Given the description of an element on the screen output the (x, y) to click on. 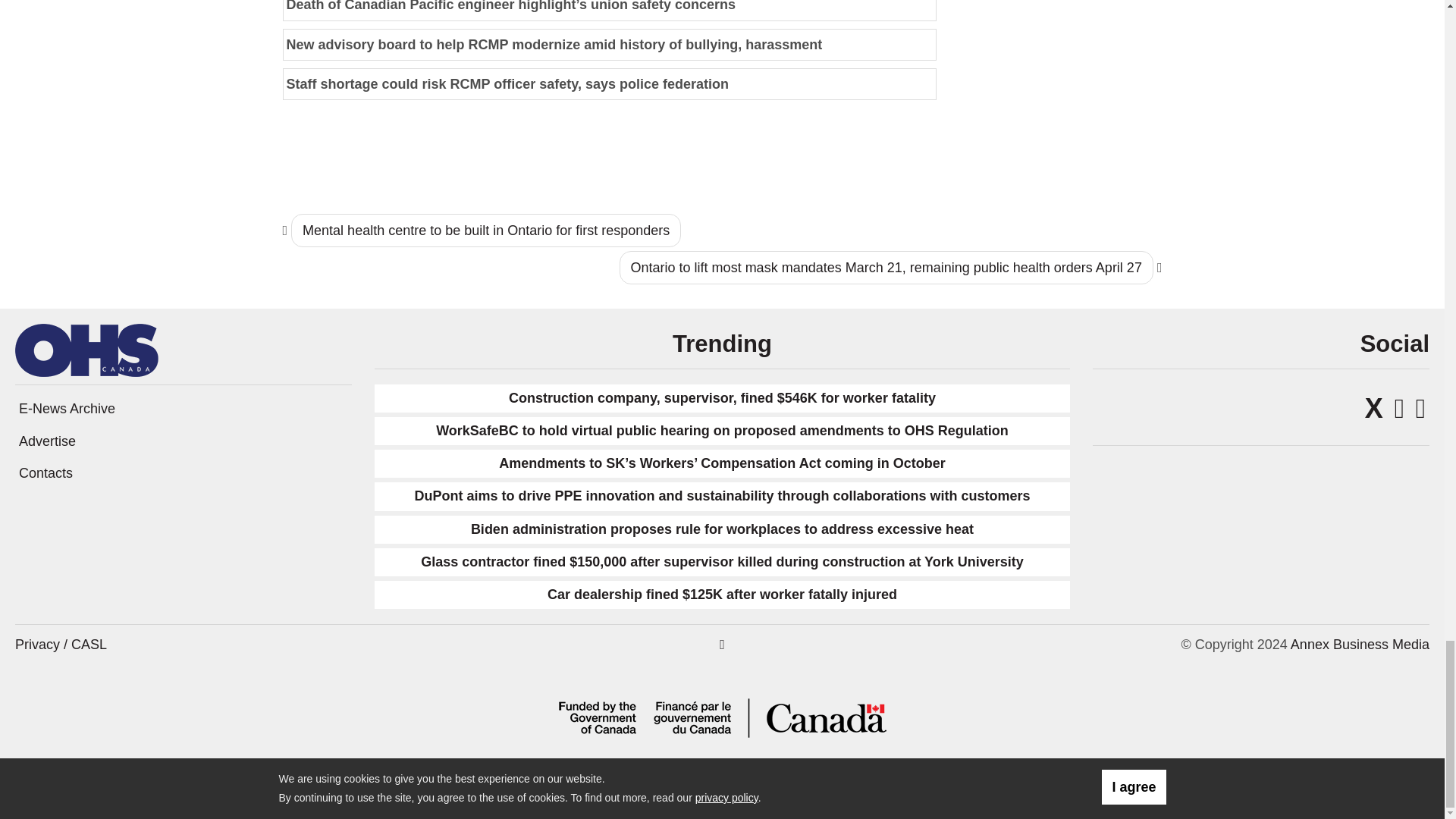
OHS Canada Magazine (86, 349)
scroll to top (722, 644)
Annex Business Media (1359, 644)
